Given the description of an element on the screen output the (x, y) to click on. 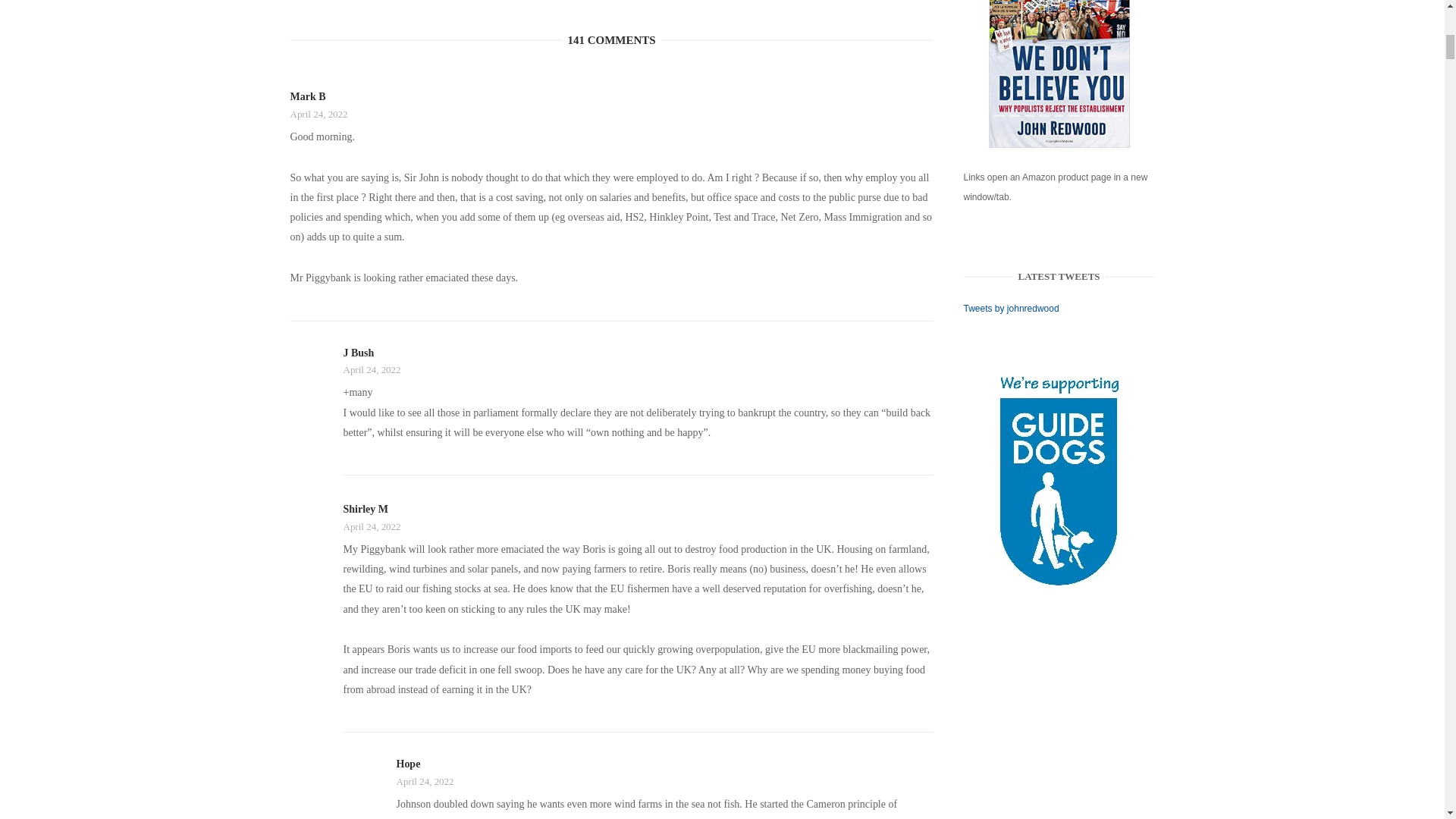
Tweets by johnredwood (1011, 308)
Having a proper debate on the economy (1058, 74)
